Given the description of an element on the screen output the (x, y) to click on. 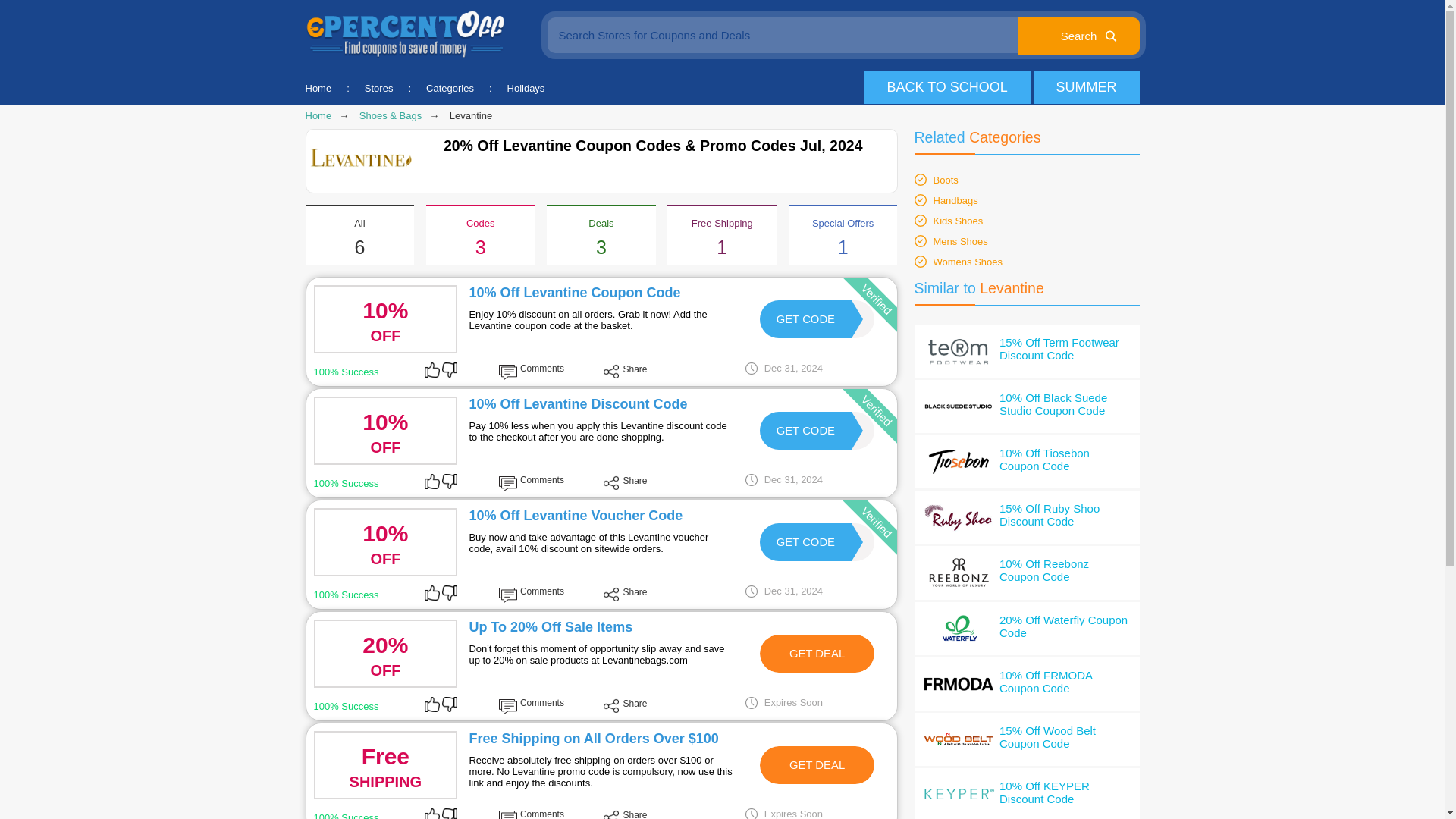
Holidays (525, 88)
Handbags (954, 200)
Summer (1085, 87)
Categories (450, 88)
Home (317, 88)
GET DEAL (805, 318)
Womens Shoes (817, 653)
GET DEAL (968, 261)
BACK TO SCHOOL (805, 430)
Kids Shoes (817, 765)
Search Stores for Coupons and Deals (946, 87)
SUMMER (957, 220)
Mens Shoes (843, 35)
